Given the description of an element on the screen output the (x, y) to click on. 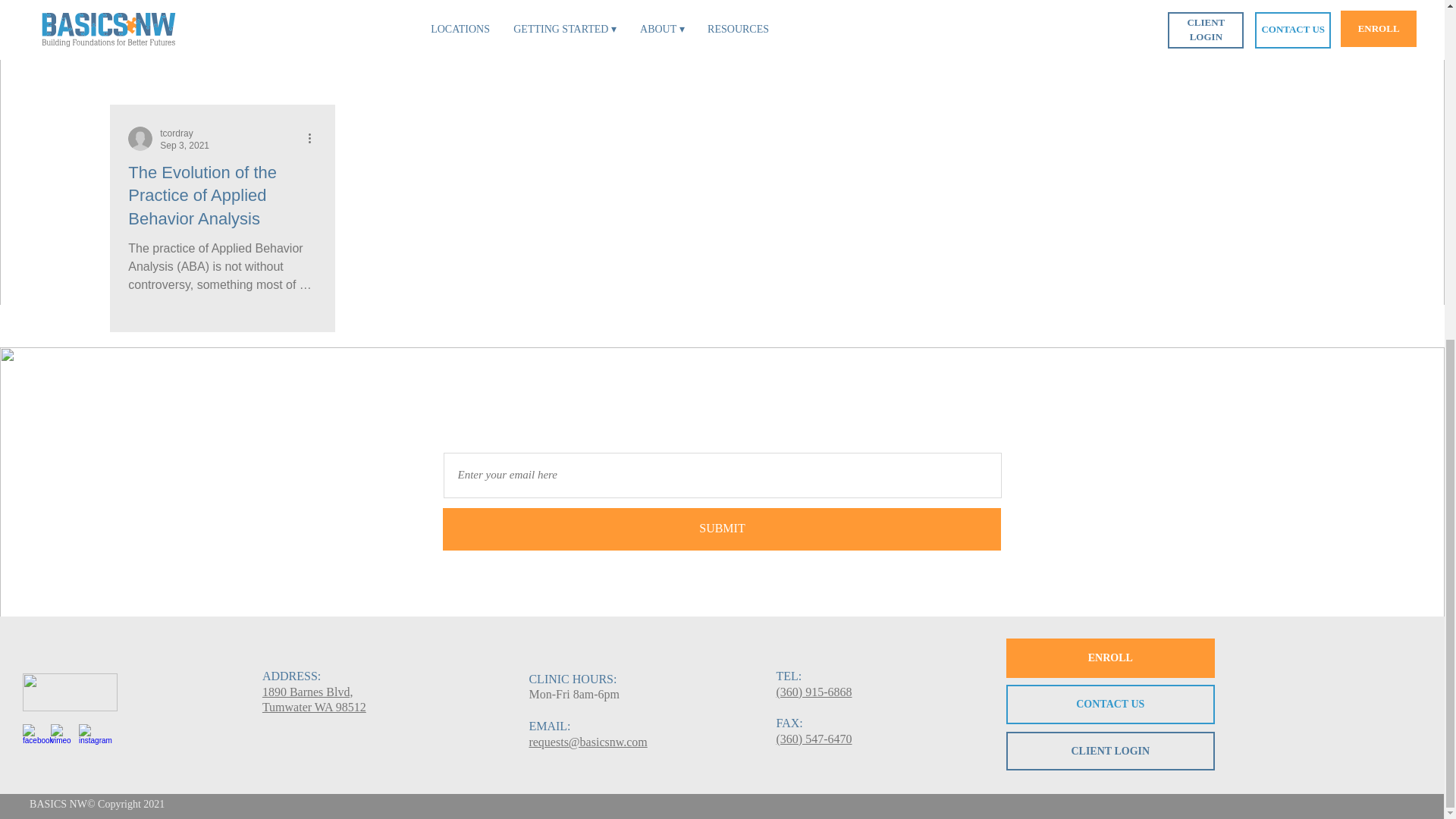
CLIENT LOGIN (1110, 751)
tcordray (176, 132)
ENROLL (1110, 657)
ADDRESS: (291, 675)
CONTACT US (314, 699)
The Evolution of the Practice of Applied Behavior Analysis (1110, 703)
SUBMIT (222, 195)
Sep 3, 2021 (721, 528)
